Given the description of an element on the screen output the (x, y) to click on. 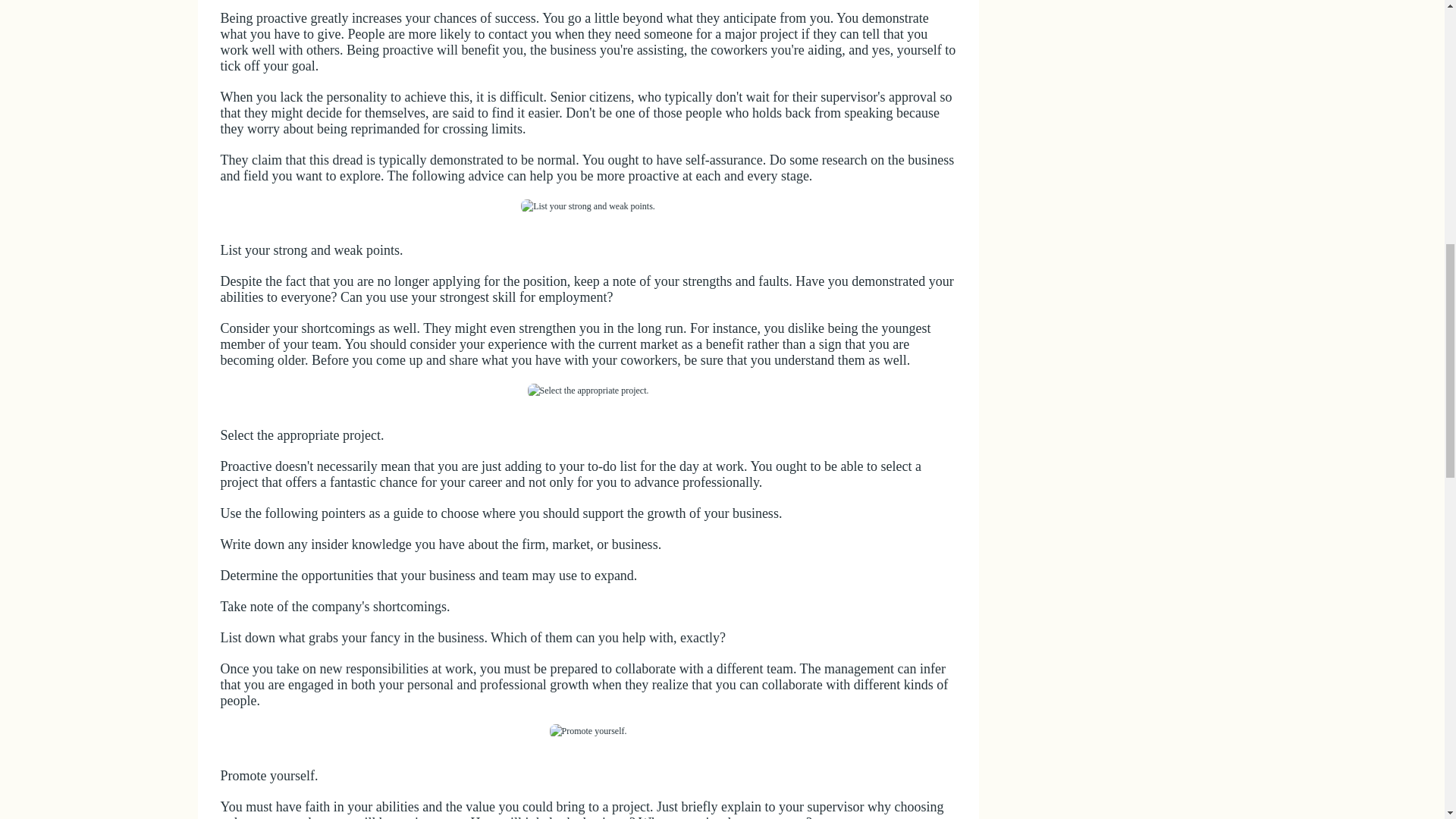
Select the appropriate project. (588, 391)
List your strong and weak points. (588, 206)
Promote yourself. (587, 730)
